Given the description of an element on the screen output the (x, y) to click on. 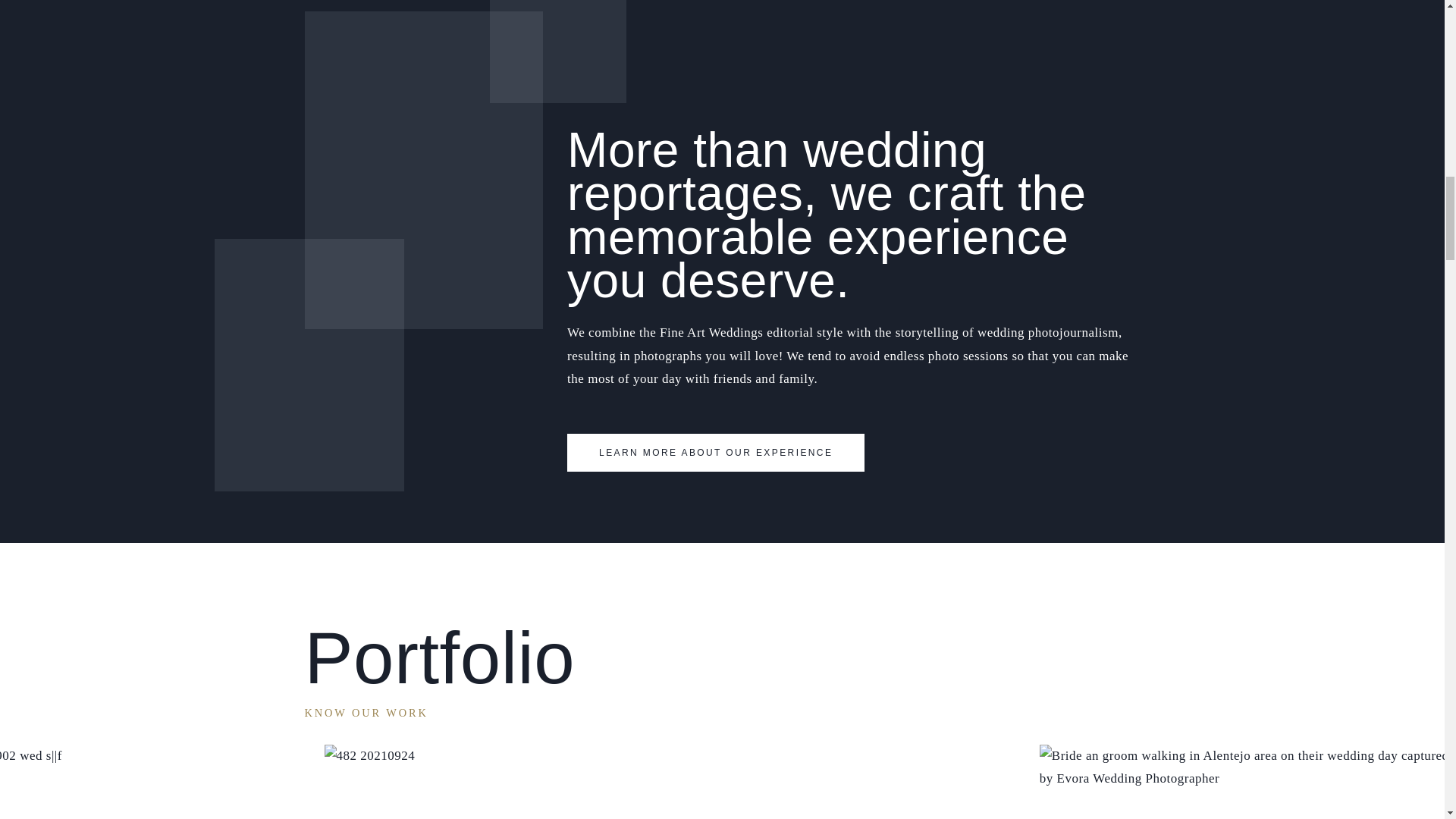
LEARN MORE ABOUT OUR EXPERIENCE (715, 452)
KNOW OUR WORK (366, 712)
